Given the description of an element on the screen output the (x, y) to click on. 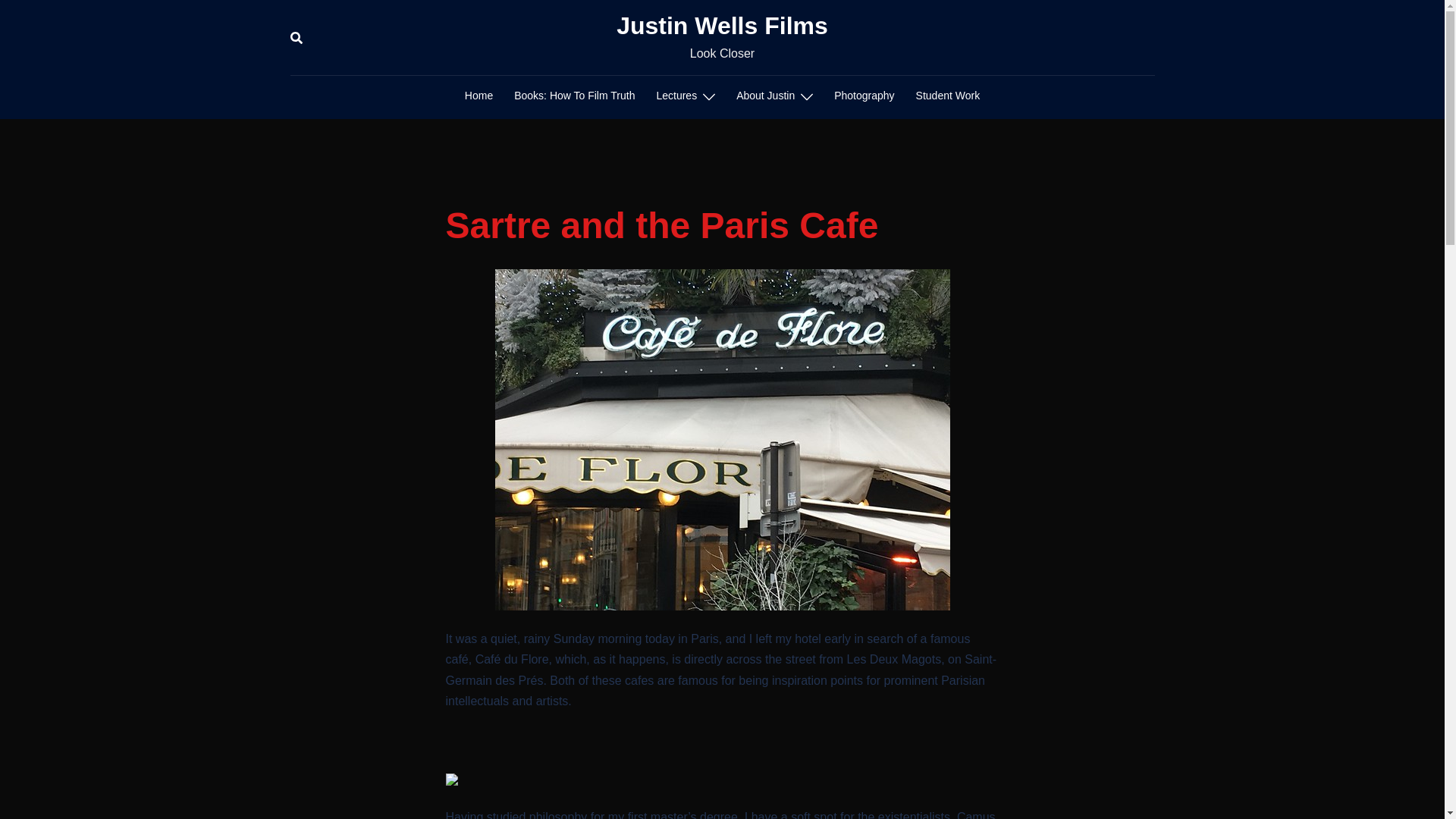
Justin Wells Films (721, 25)
Books: How To Film Truth (573, 95)
Home (478, 95)
Student Work (947, 95)
About Justin (765, 95)
Lectures (676, 95)
Photography (863, 95)
